Given the description of an element on the screen output the (x, y) to click on. 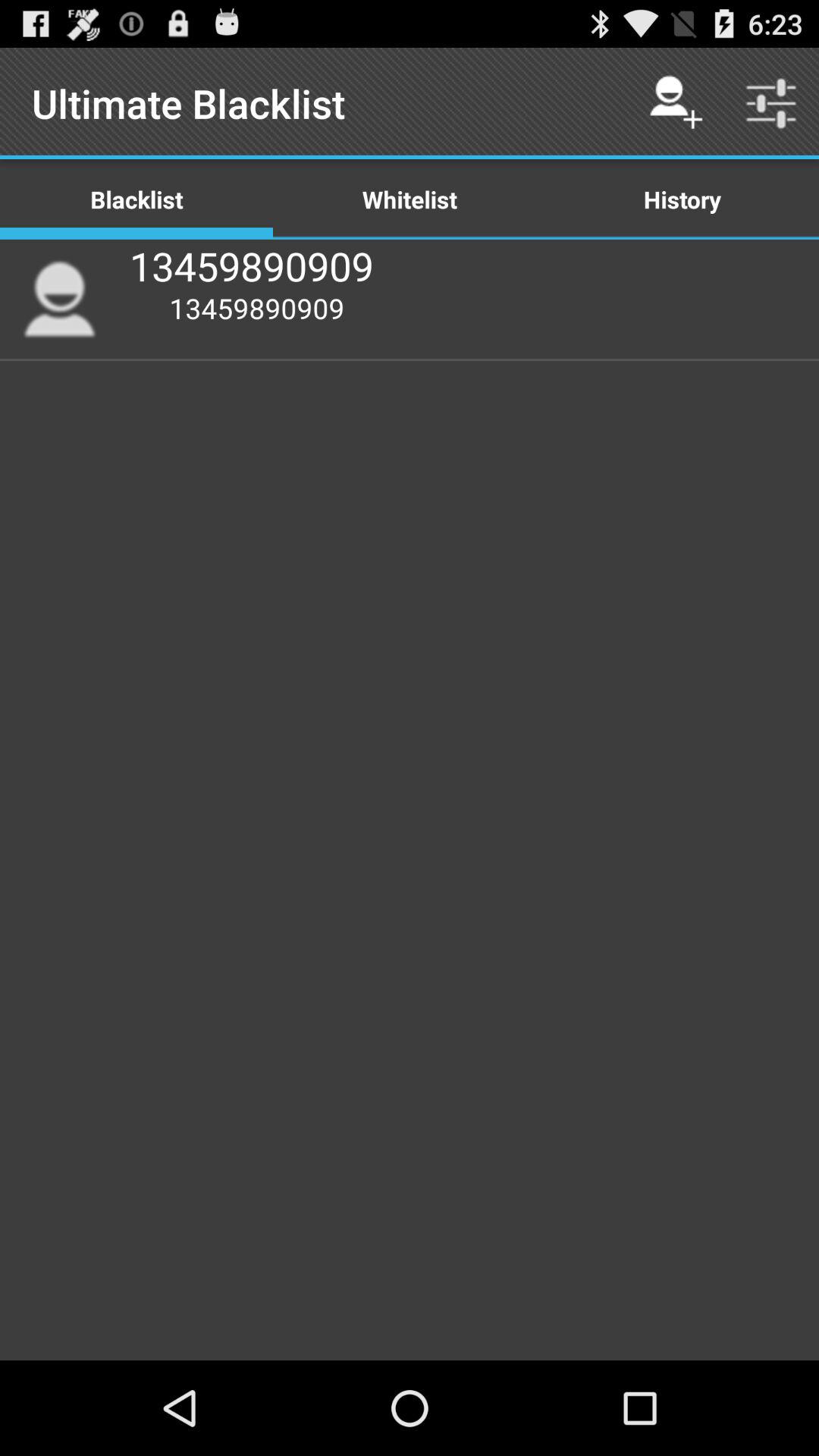
choose icon above the 13459890909 item (409, 199)
